Given the description of an element on the screen output the (x, y) to click on. 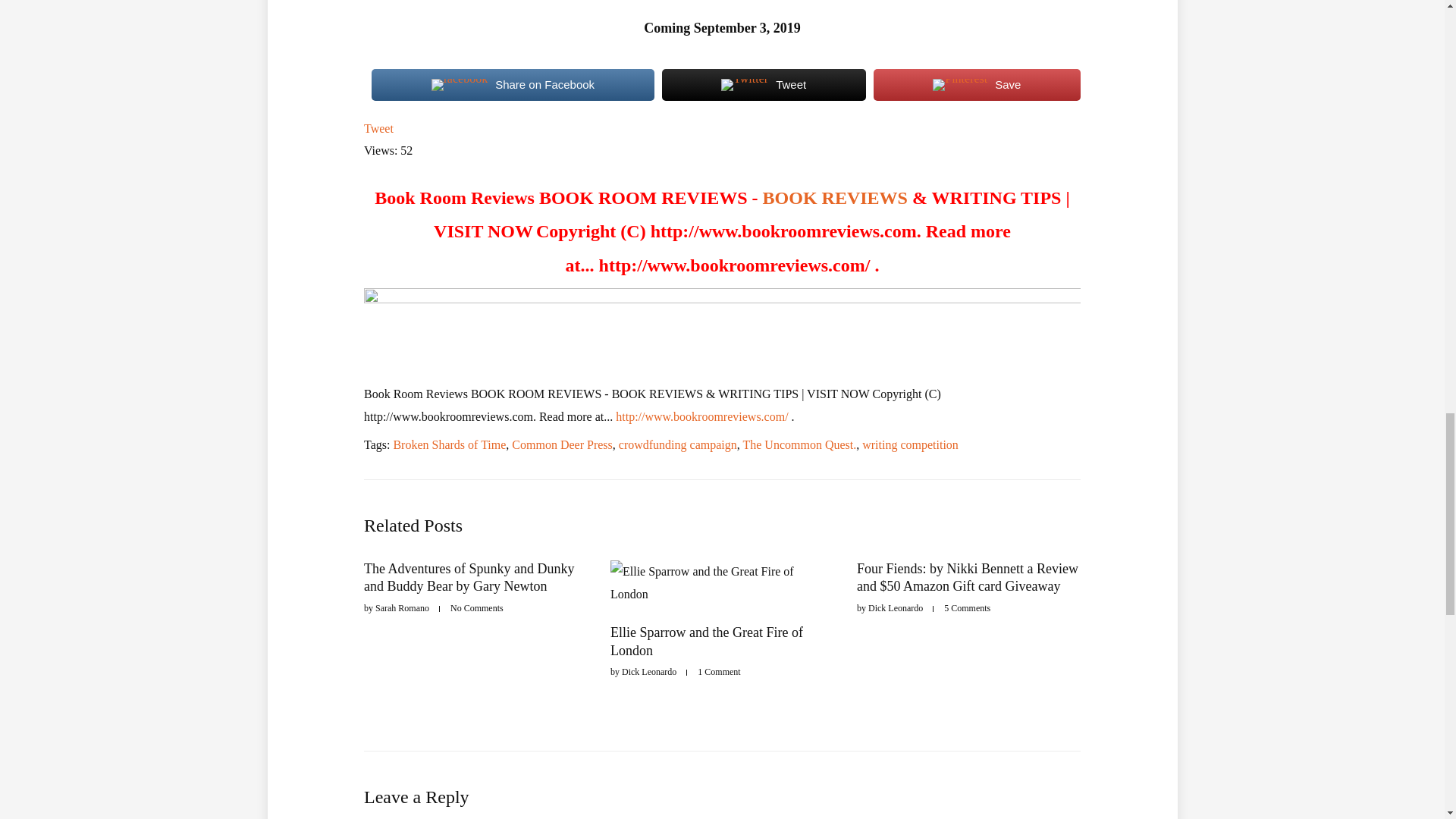
Save (976, 84)
Broken Shards of Time (449, 444)
BOOK REVIEWS (834, 198)
Share on Facebook (512, 84)
Tweet (764, 84)
Tweet (378, 128)
